Given the description of an element on the screen output the (x, y) to click on. 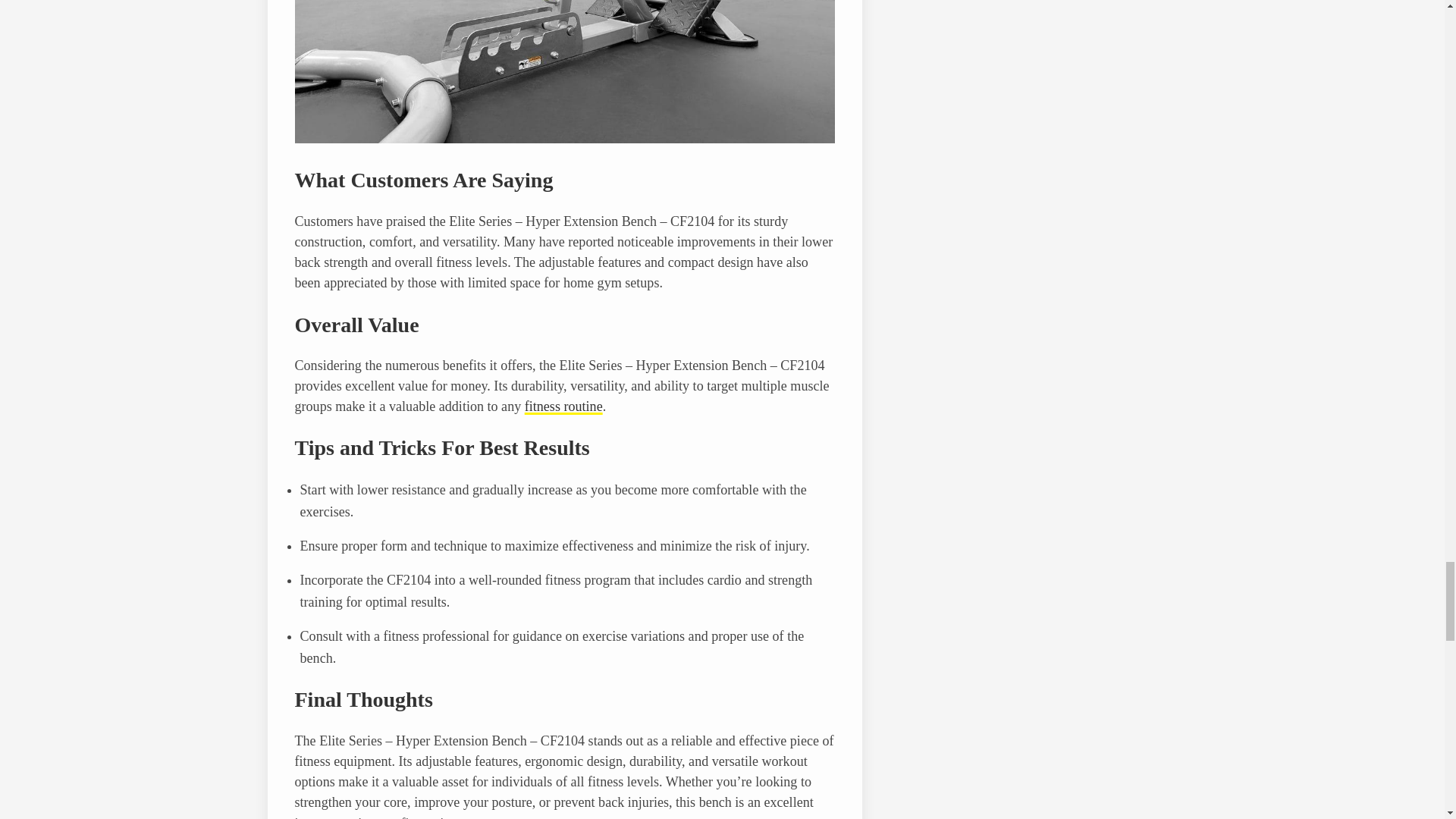
Elite Series - Hyper Extension Bench - CF2104 (564, 138)
Elite Series - Hyper Extension Bench - CF2104 (564, 71)
